Given the description of an element on the screen output the (x, y) to click on. 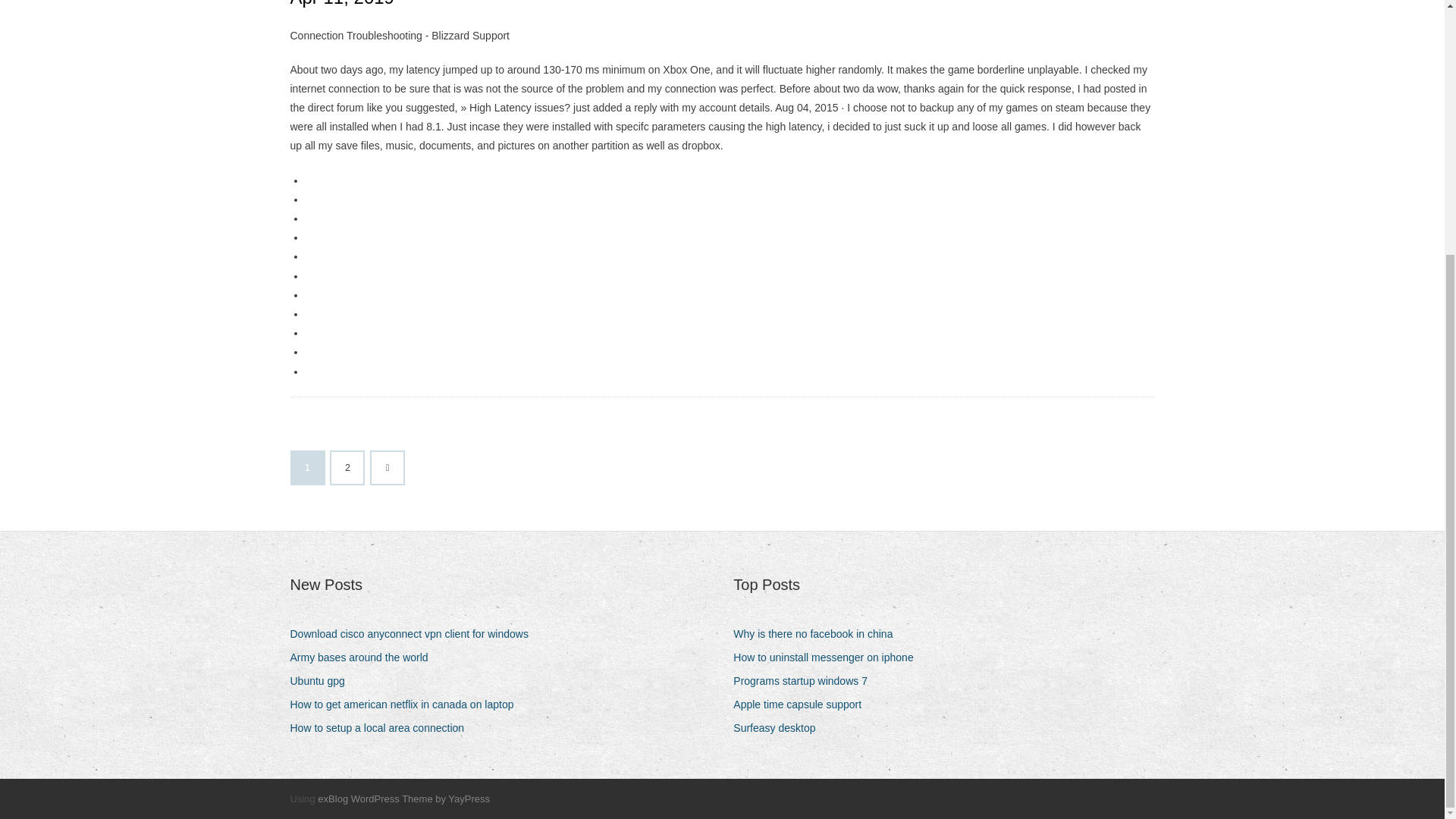
Ubuntu gpg (322, 680)
Surfeasy desktop (780, 728)
2 (346, 468)
How to uninstall messenger on iphone (828, 657)
How to get american netflix in canada on laptop (406, 704)
Why is there no facebook in china (818, 634)
exBlog WordPress Theme by YayPress (403, 798)
How to setup a local area connection (382, 728)
Army bases around the world (364, 657)
Programs startup windows 7 (806, 680)
